Given the description of an element on the screen output the (x, y) to click on. 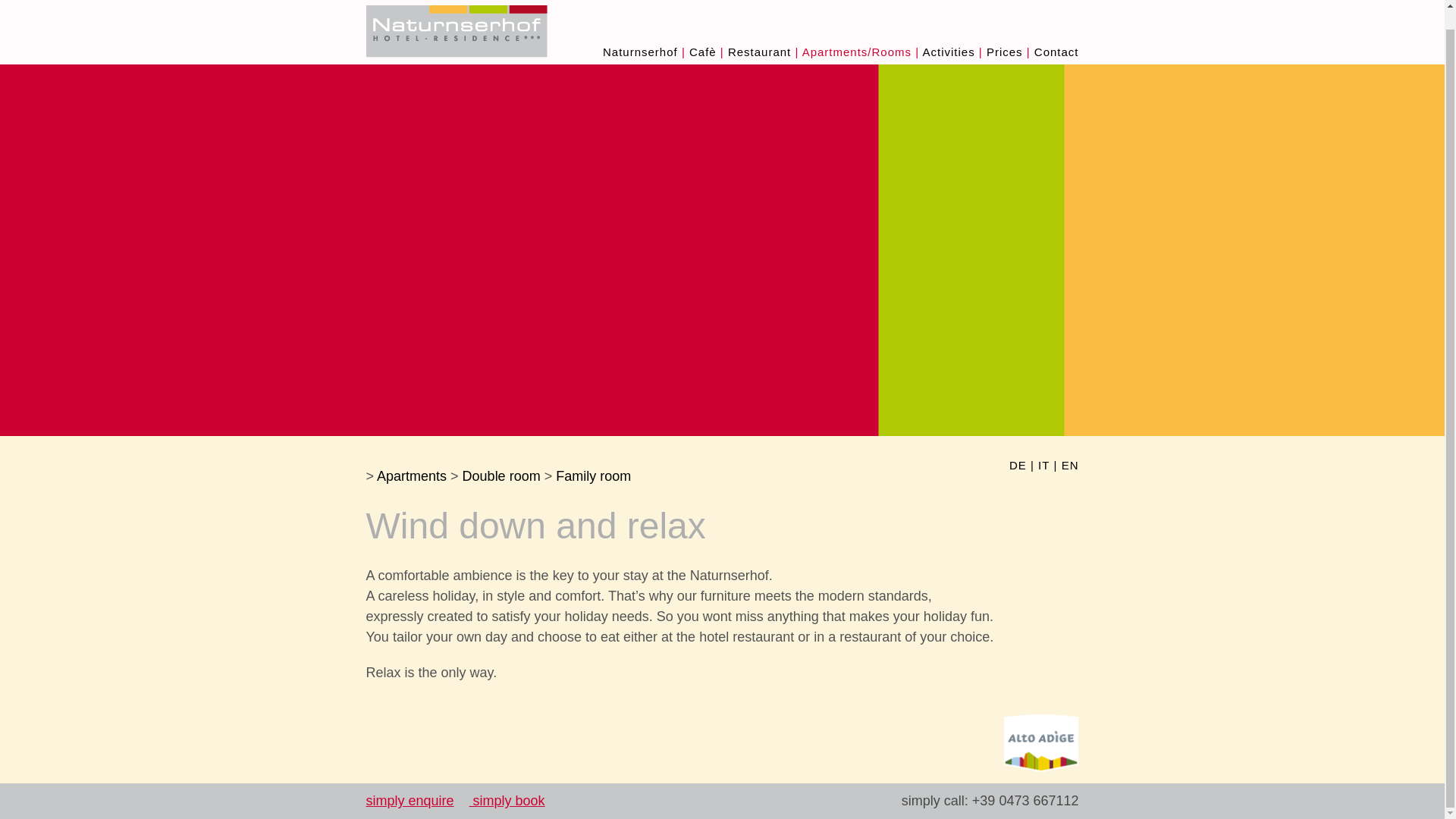
Family room (593, 476)
Restaurant (759, 51)
Opens internal link in current window (506, 800)
Apartments (411, 476)
Prices (1005, 51)
EN (1069, 466)
Naturnserhof (640, 51)
Double room (501, 476)
Activities (947, 51)
Opens internal link in current window (408, 800)
Contact (1055, 51)
simply enquire (408, 800)
DE (1017, 466)
simply book (506, 800)
